Given the description of an element on the screen output the (x, y) to click on. 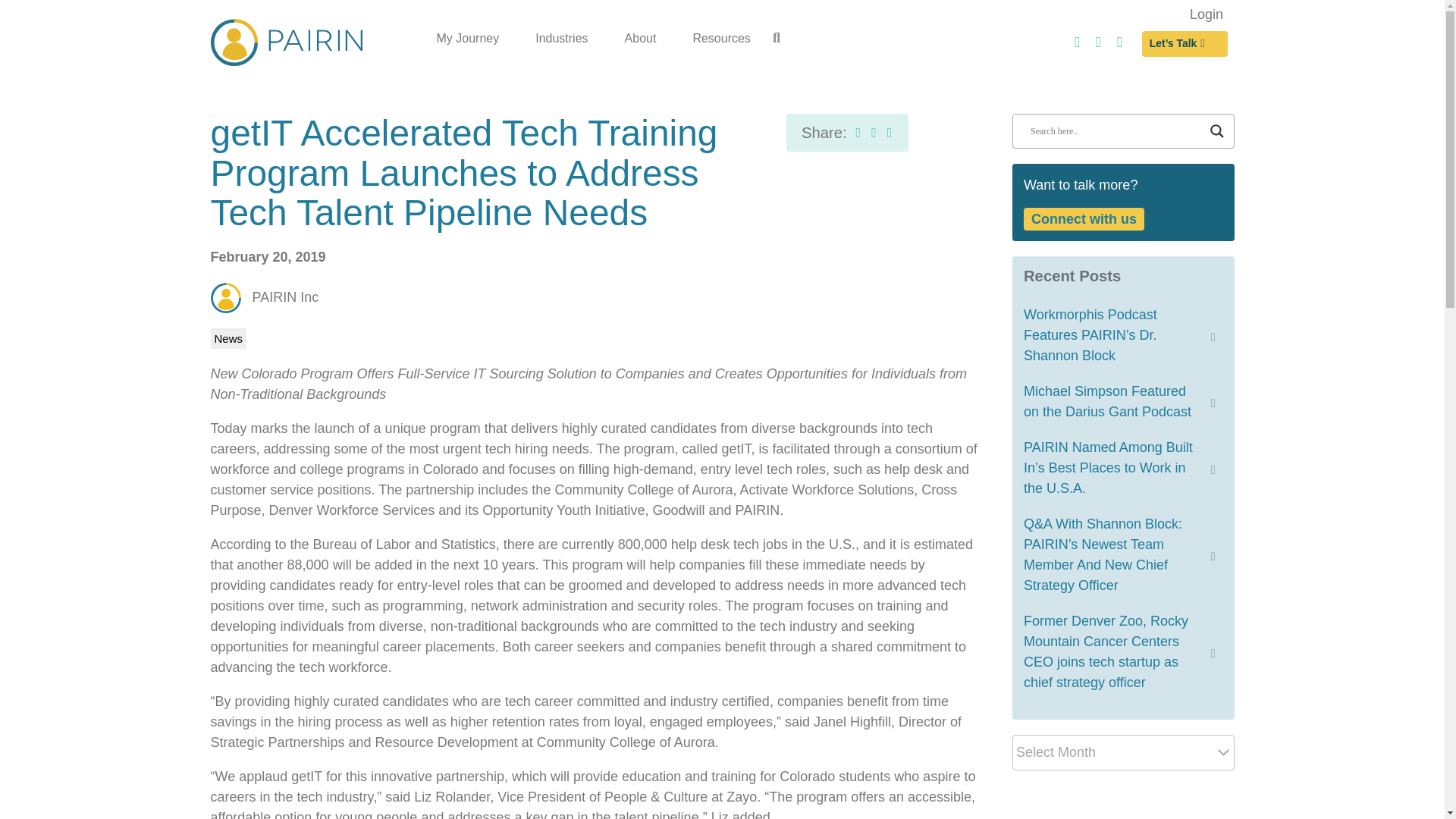
My Journey (468, 38)
News (229, 338)
Login (1206, 14)
LinkedIn (1098, 47)
Resources (721, 38)
Facebook (1077, 47)
Twitter (1119, 47)
Industries (560, 38)
About (641, 38)
